Given the description of an element on the screen output the (x, y) to click on. 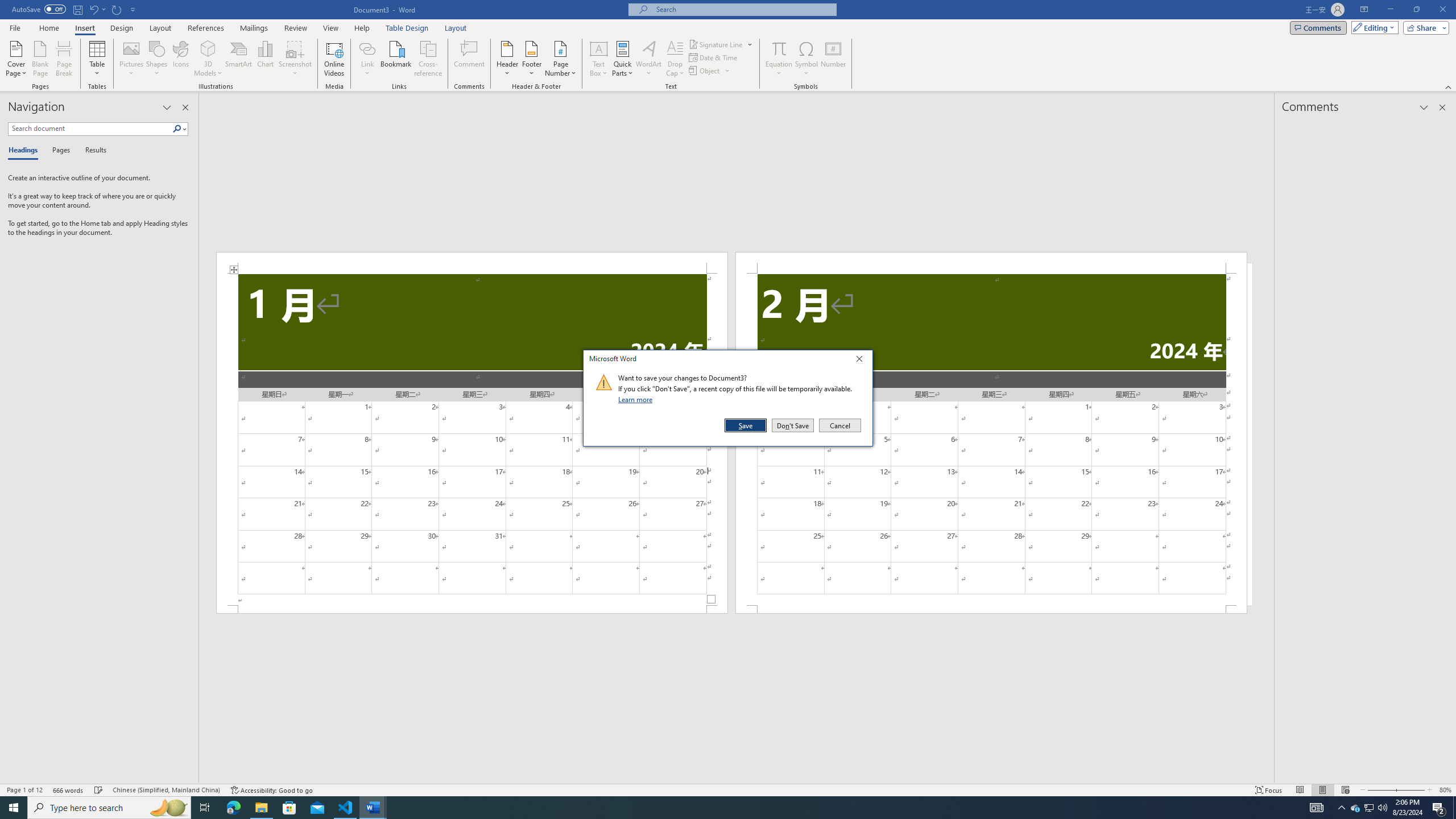
Repeat Doc Close (117, 9)
Header -Section 1- (471, 263)
Page Break (1355, 807)
Microsoft Edge (63, 58)
Running applications (233, 807)
Object... (717, 807)
Page Number Page 1 of 12 (705, 69)
